Given the description of an element on the screen output the (x, y) to click on. 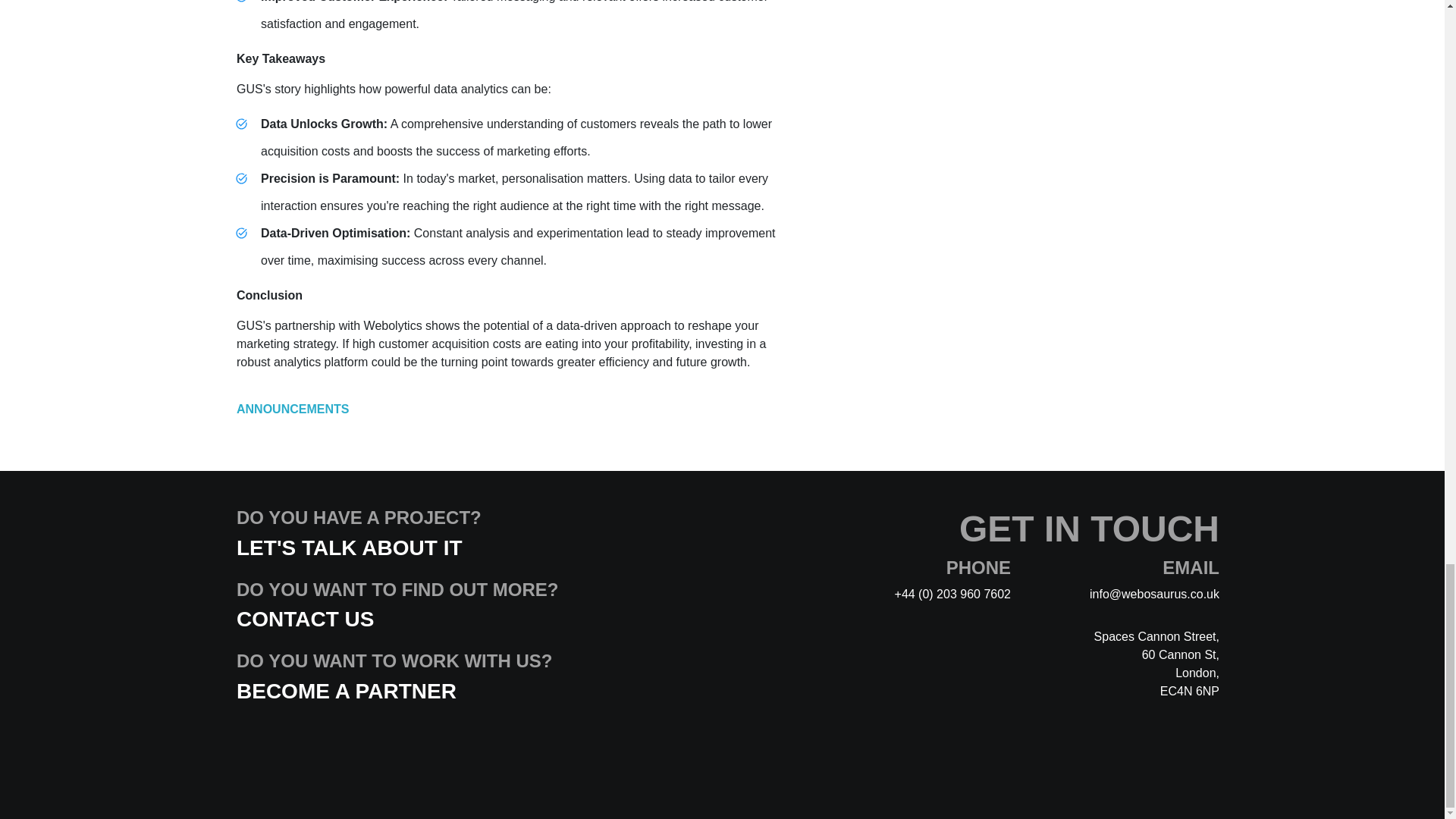
LET'S TALK ABOUT IT (349, 547)
BECOME A PARTNER (346, 690)
ANNOUNCEMENTS (292, 408)
CONTACT US (304, 618)
